Given the description of an element on the screen output the (x, y) to click on. 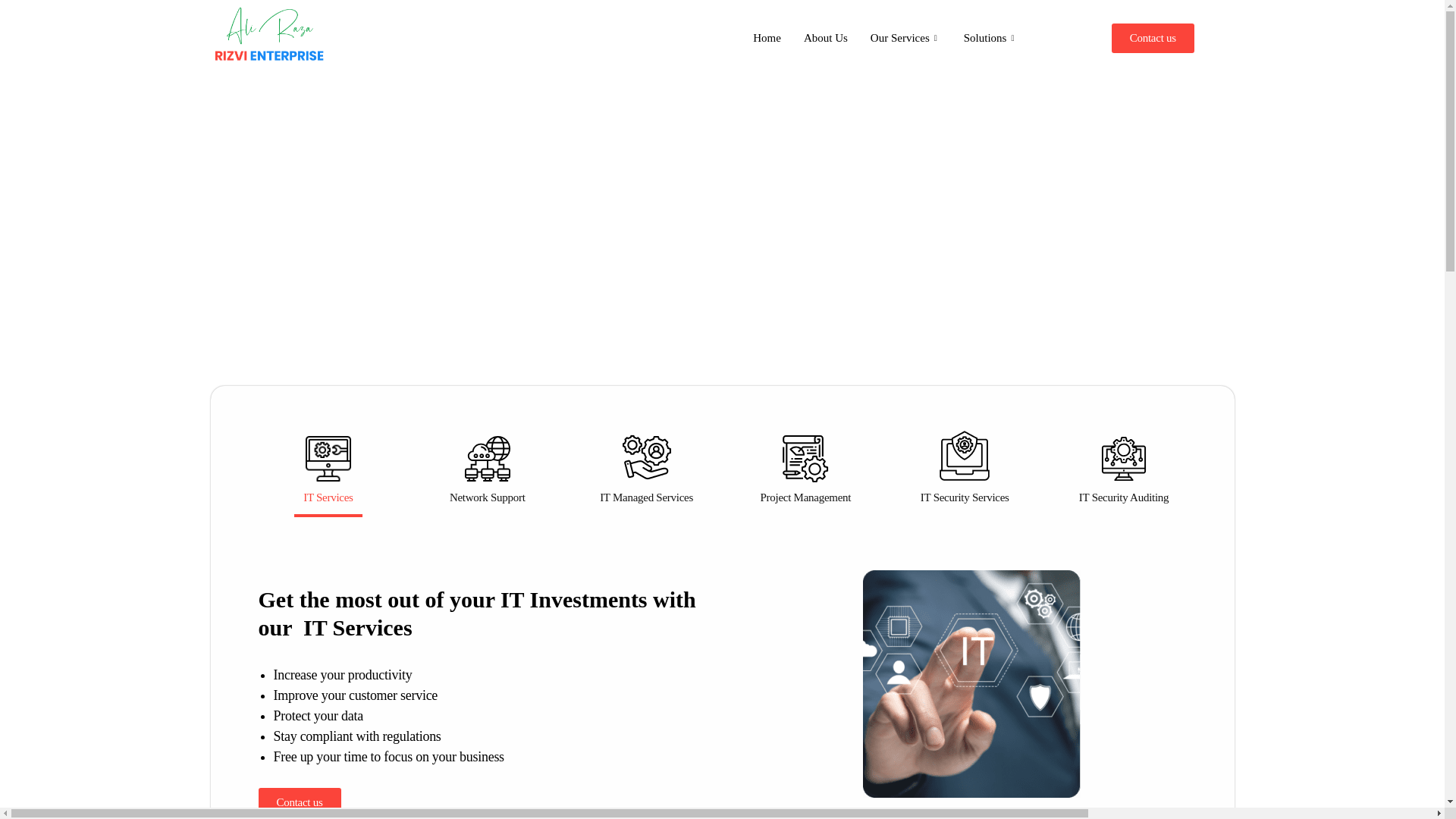
Network Support (486, 470)
Contact us (1152, 37)
Solutions (990, 37)
Contact us (298, 802)
IT Services (328, 470)
Project Management (805, 470)
IT Security Services (964, 467)
Our Services (905, 37)
About Us (825, 37)
IT Security Auditing (1124, 470)
IT Managed Services (646, 468)
